Given the description of an element on the screen output the (x, y) to click on. 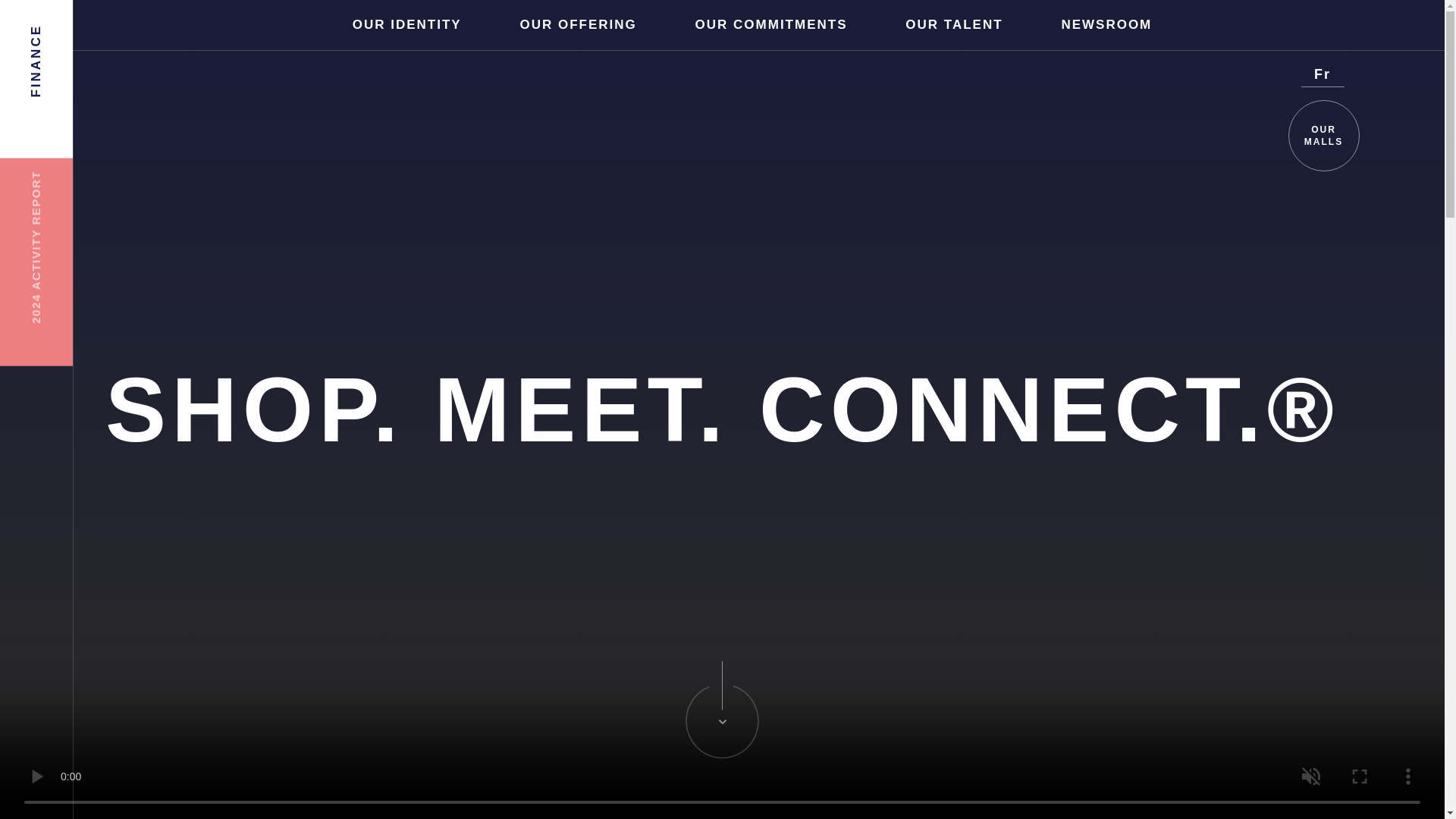
Fr (1322, 74)
OUR IDENTITY (406, 24)
NEWSROOM (1106, 24)
OUR OFFERING (577, 24)
2024 ACTIVITY REPORT (107, 187)
OUR MALLS (1322, 135)
OUR TALENT (954, 24)
OUR COMMITMENTS (770, 24)
FINANCE (79, 36)
